Given the description of an element on the screen output the (x, y) to click on. 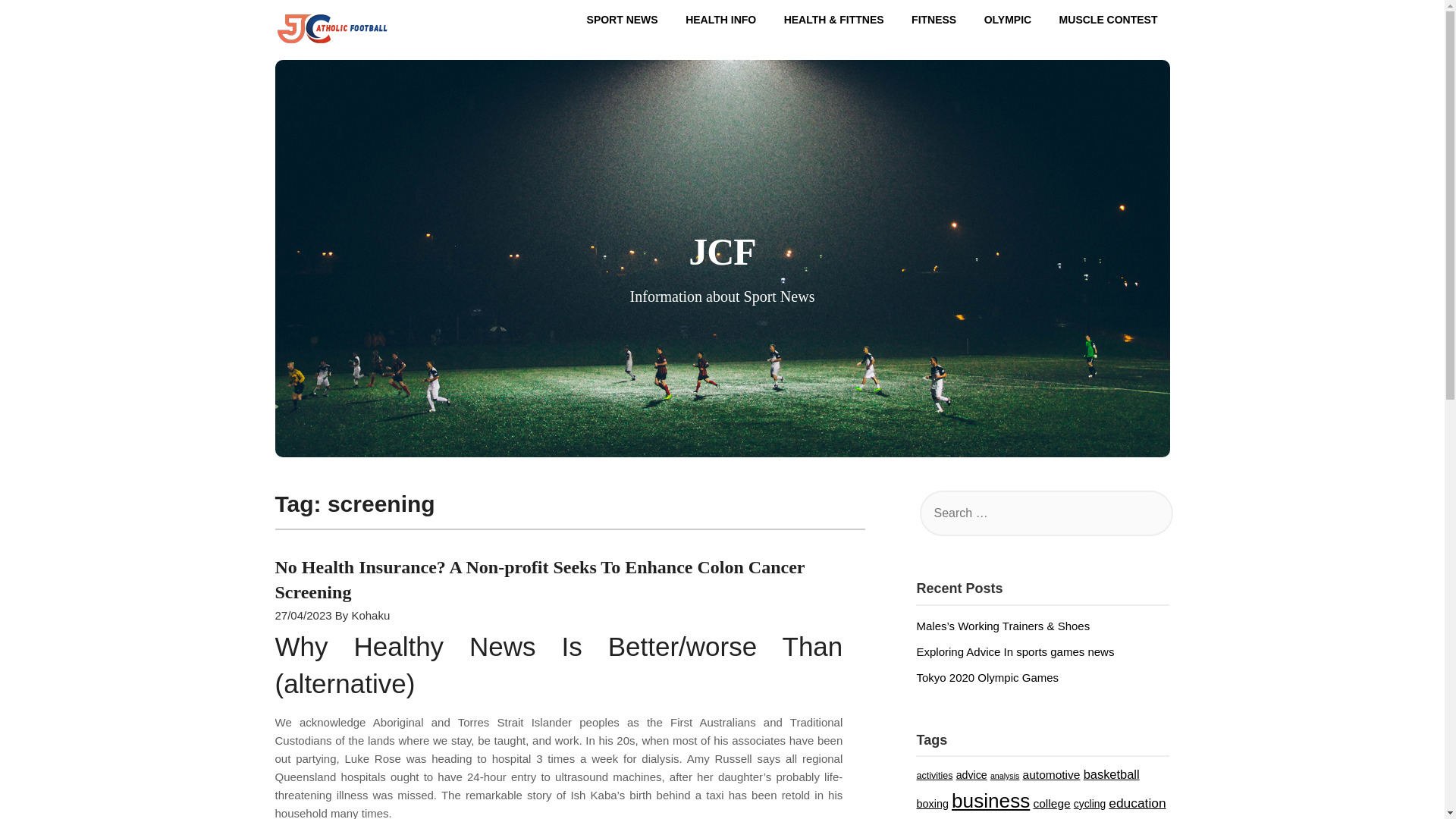
automotive (1051, 774)
cycling (1089, 803)
Search (38, 22)
Exploring Advice In sports games news (1014, 651)
MUSCLE CONTEST (1108, 20)
college (1051, 802)
advice (971, 775)
education (1137, 802)
business (990, 800)
OLYMPIC (1007, 20)
FITNESS (933, 20)
SPORT NEWS (622, 20)
Tokyo 2020 Olympic Games (986, 676)
basketball (1111, 774)
